Given the description of an element on the screen output the (x, y) to click on. 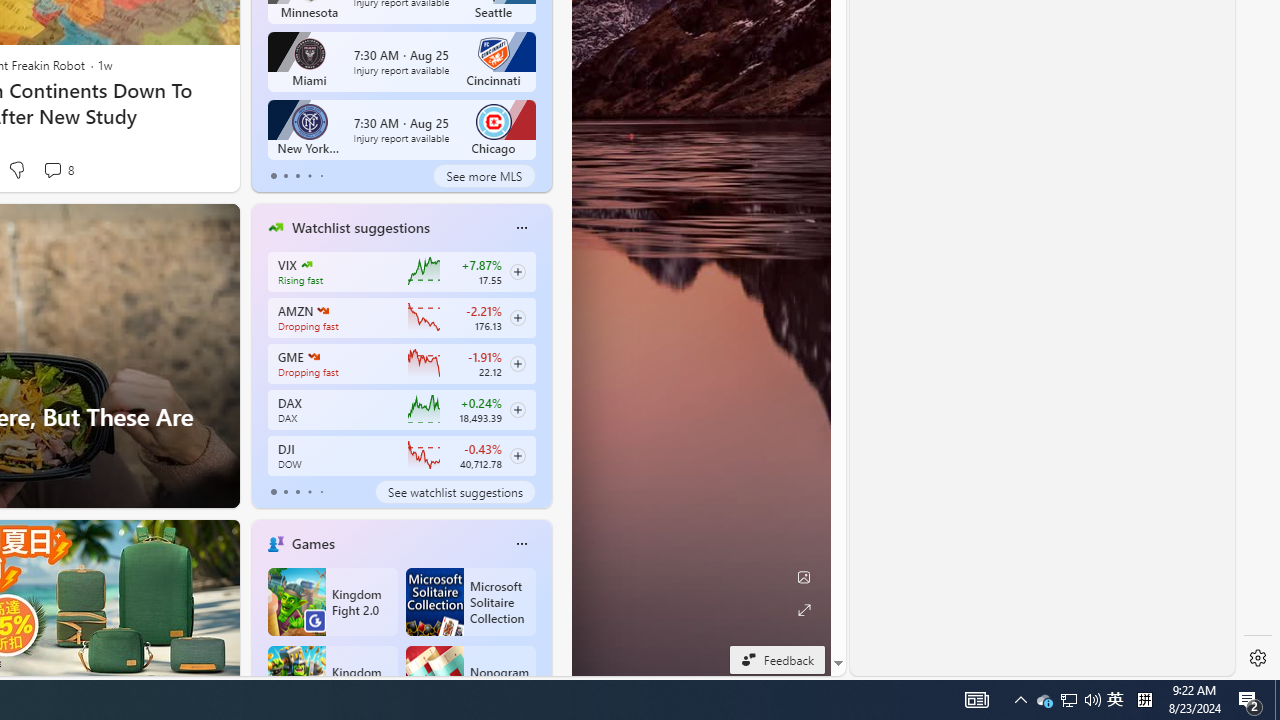
Kingdom Fight (332, 679)
tab-4 (320, 491)
AMAZON.COM, INC. (322, 310)
GAMESTOP CORP. (313, 356)
Games (312, 543)
View comments 8 Comment (57, 170)
View comments 8 Comment (52, 169)
tab-1 (285, 491)
